Given the description of an element on the screen output the (x, y) to click on. 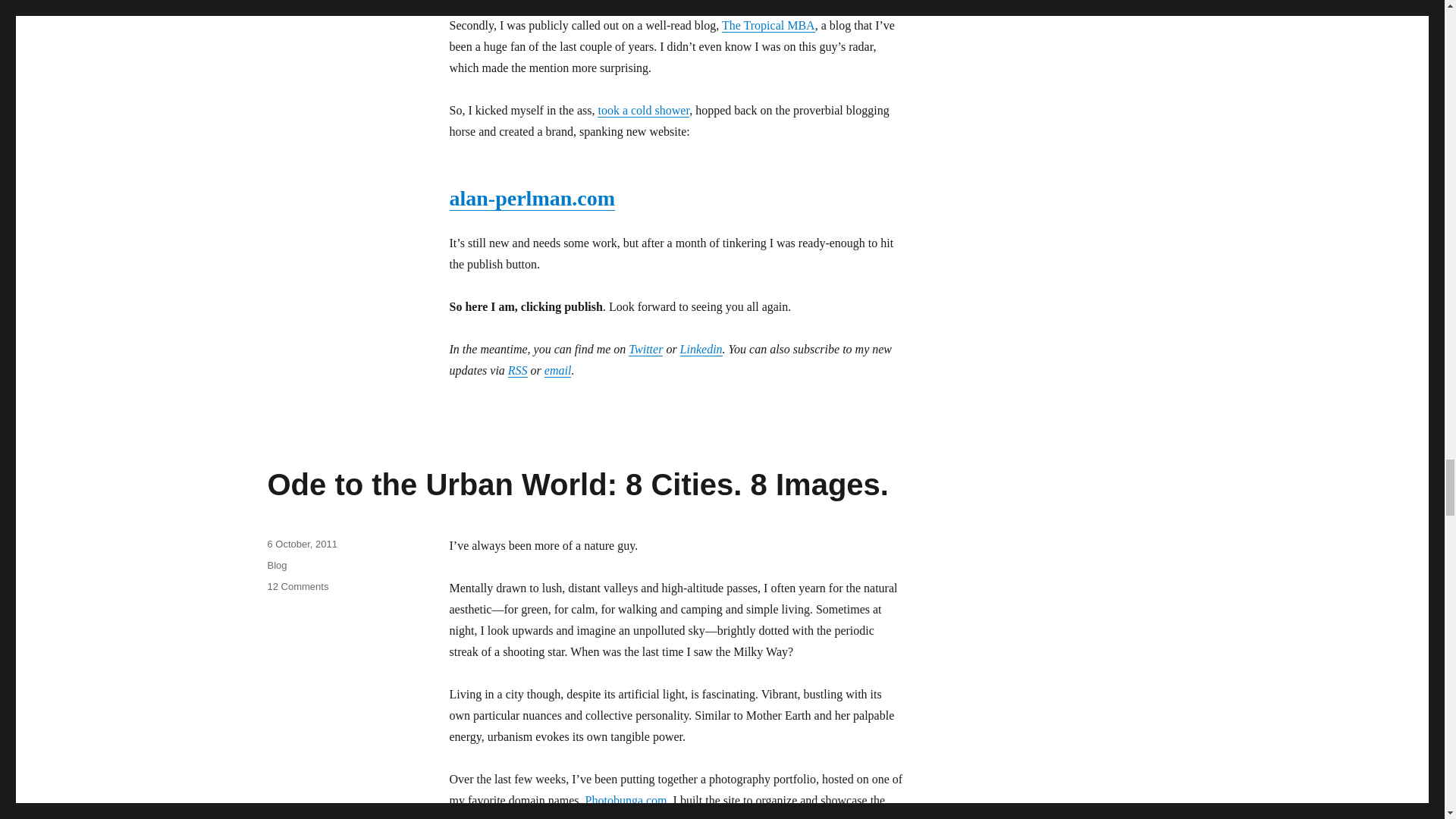
The Tropical MBA (768, 24)
took a cold shower (642, 110)
photobunga (625, 799)
